Given the description of an element on the screen output the (x, y) to click on. 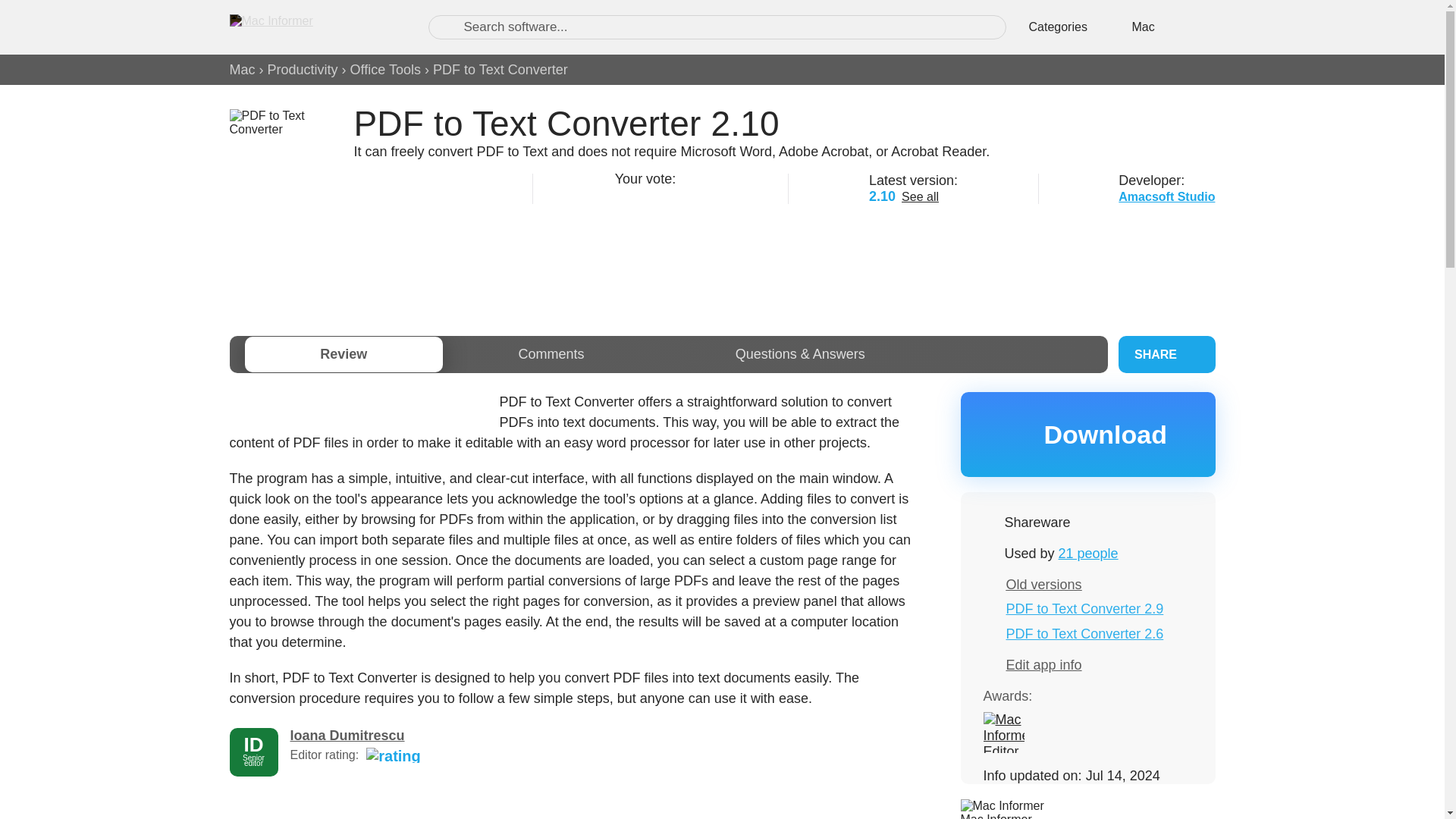
Mac Informer (994, 816)
Search software... (717, 27)
Editors' choice award (1002, 731)
Comments (550, 354)
5 (697, 193)
Software downloads and reviews (312, 26)
PDF to Text Converter 2.9 (1084, 608)
1 (621, 193)
SHARE (1166, 354)
Review (343, 354)
